Given the description of an element on the screen output the (x, y) to click on. 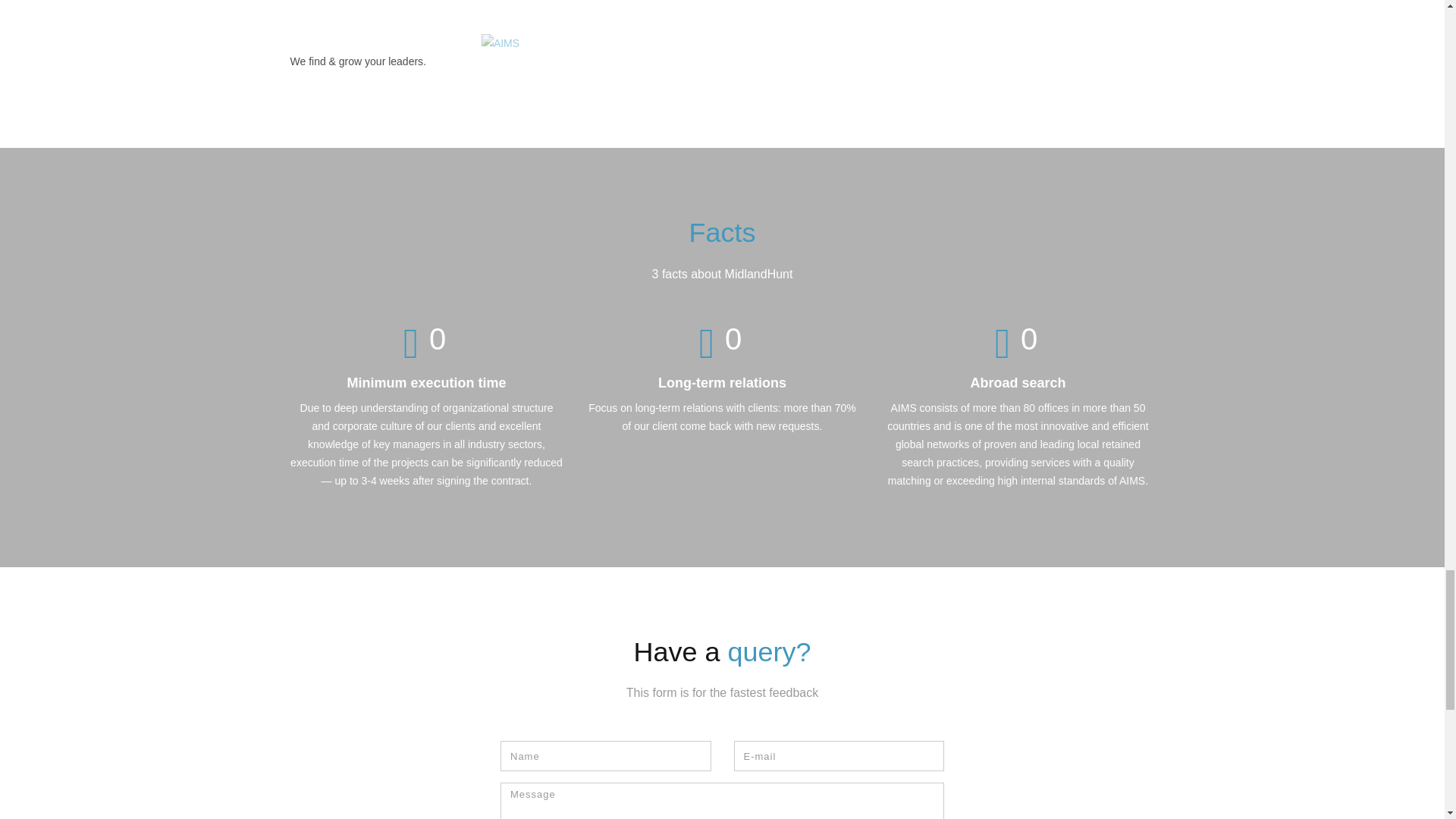
AIMS (500, 43)
